Given the description of an element on the screen output the (x, y) to click on. 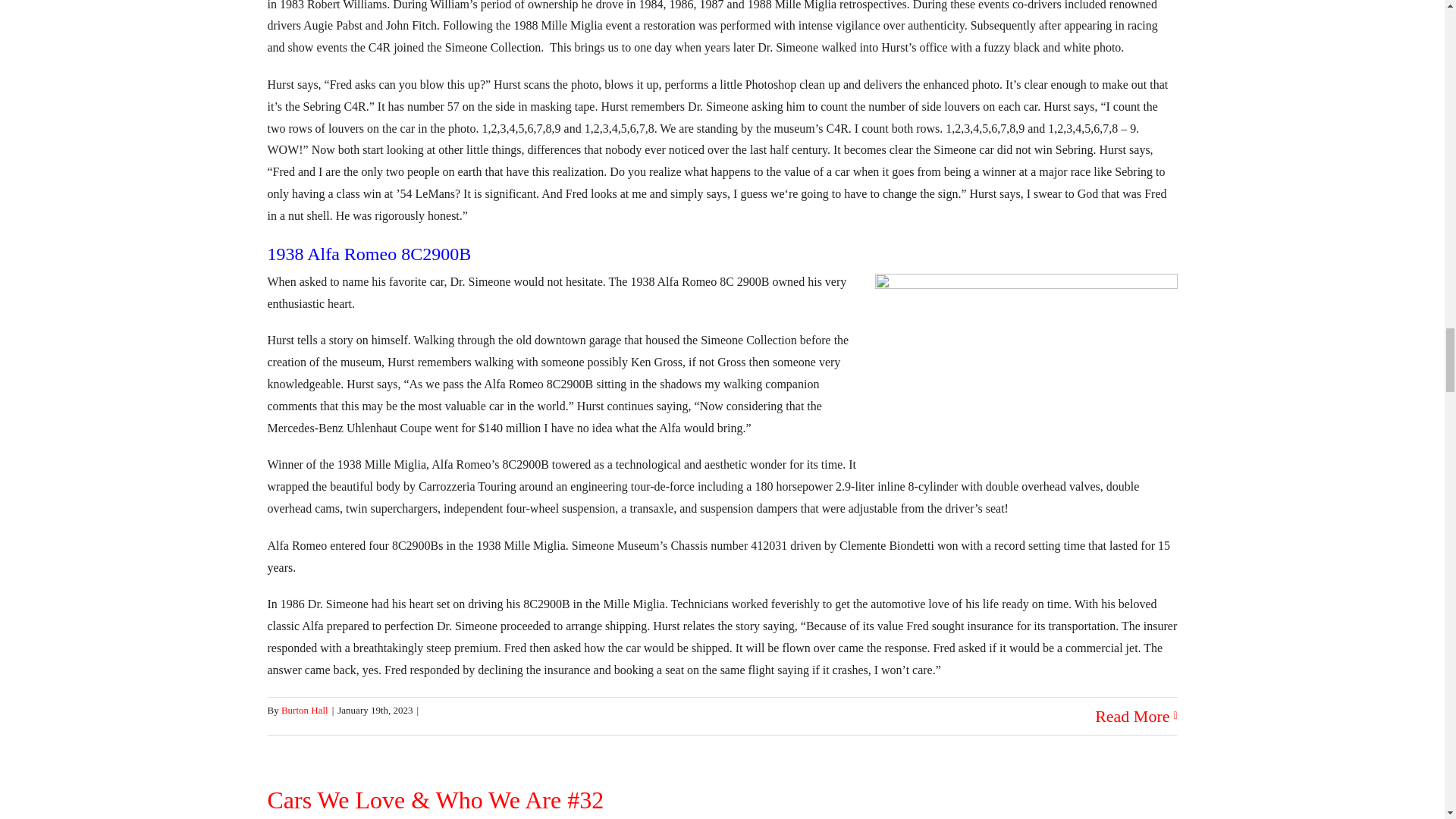
Read More (1131, 716)
Burton Hall (305, 709)
Posts by Burton Hall (305, 709)
